Given the description of an element on the screen output the (x, y) to click on. 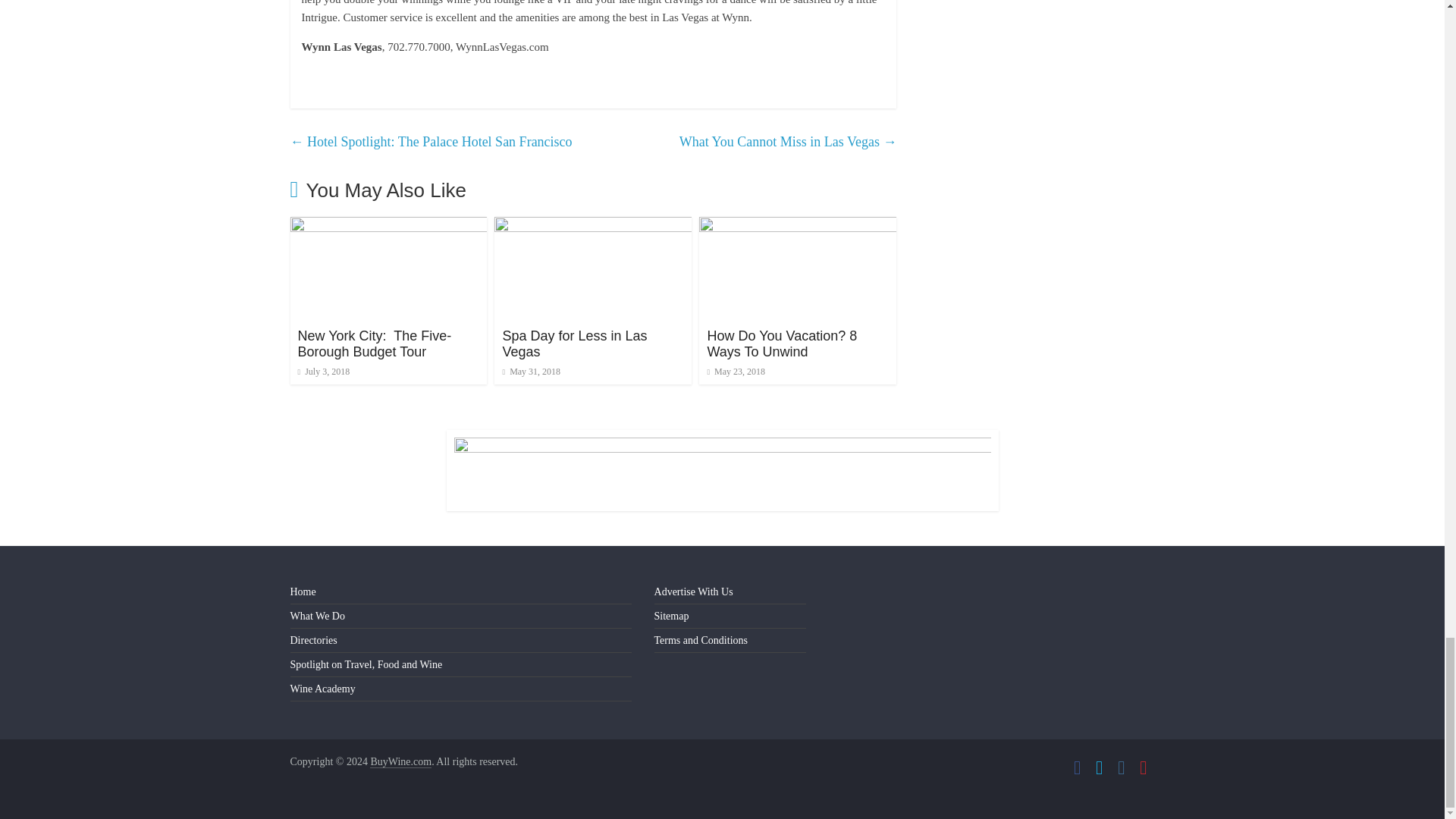
Spa Day for Less in Las Vegas (574, 344)
1:26 pm (735, 371)
How Do You Vacation?  8 Ways To Unwind (781, 344)
3:01 pm (323, 371)
How Do You Vacation?  8 Ways To Unwind (797, 226)
1:23 pm (531, 371)
Spa Day for Less in Las Vegas (593, 226)
